Given the description of an element on the screen output the (x, y) to click on. 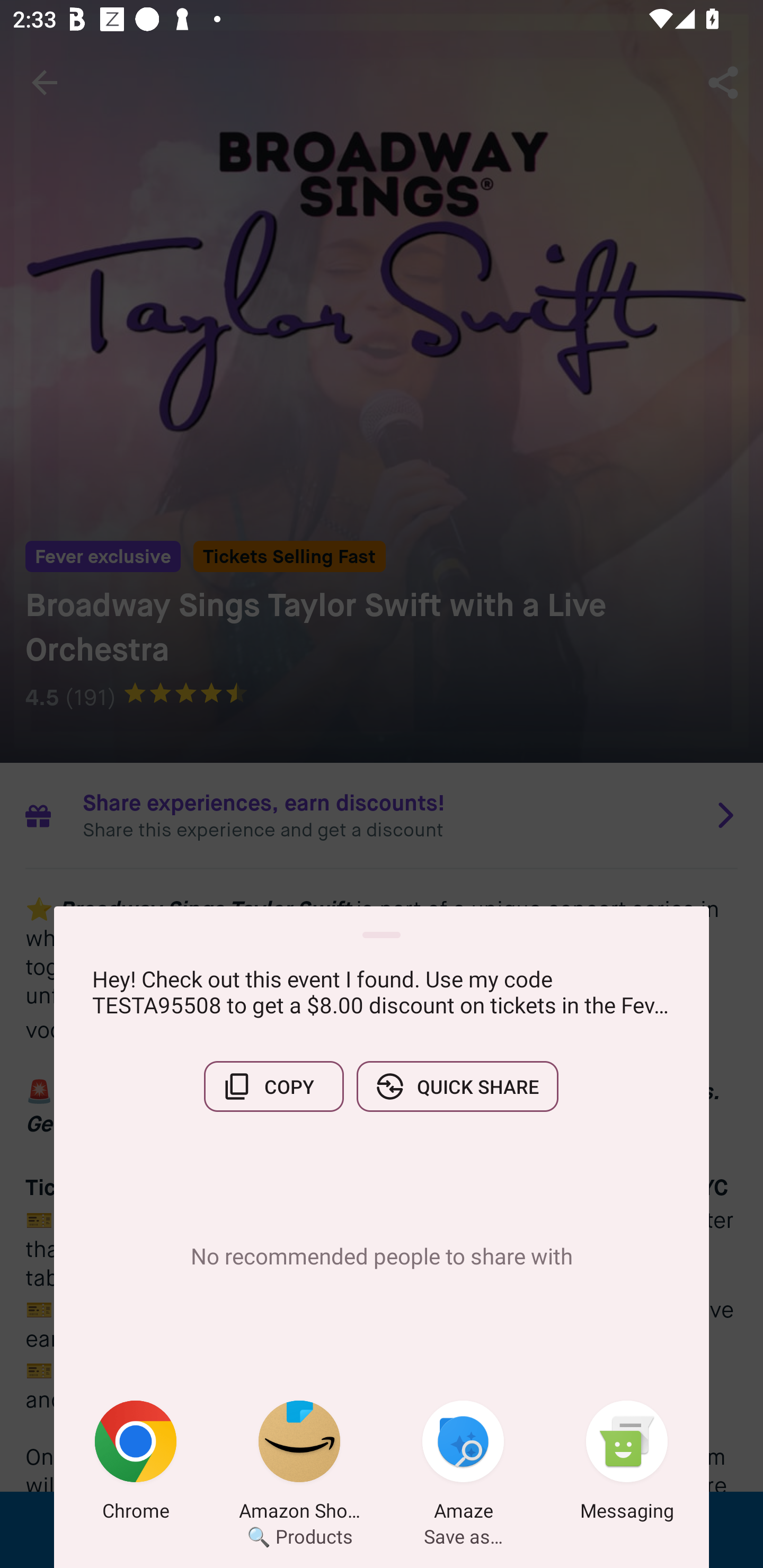
COPY (273, 1086)
QUICK SHARE (457, 1086)
Chrome (135, 1463)
Amazon Shopping 🔍 Products (299, 1463)
Amaze Save as… (463, 1463)
Messaging (626, 1463)
